Given the description of an element on the screen output the (x, y) to click on. 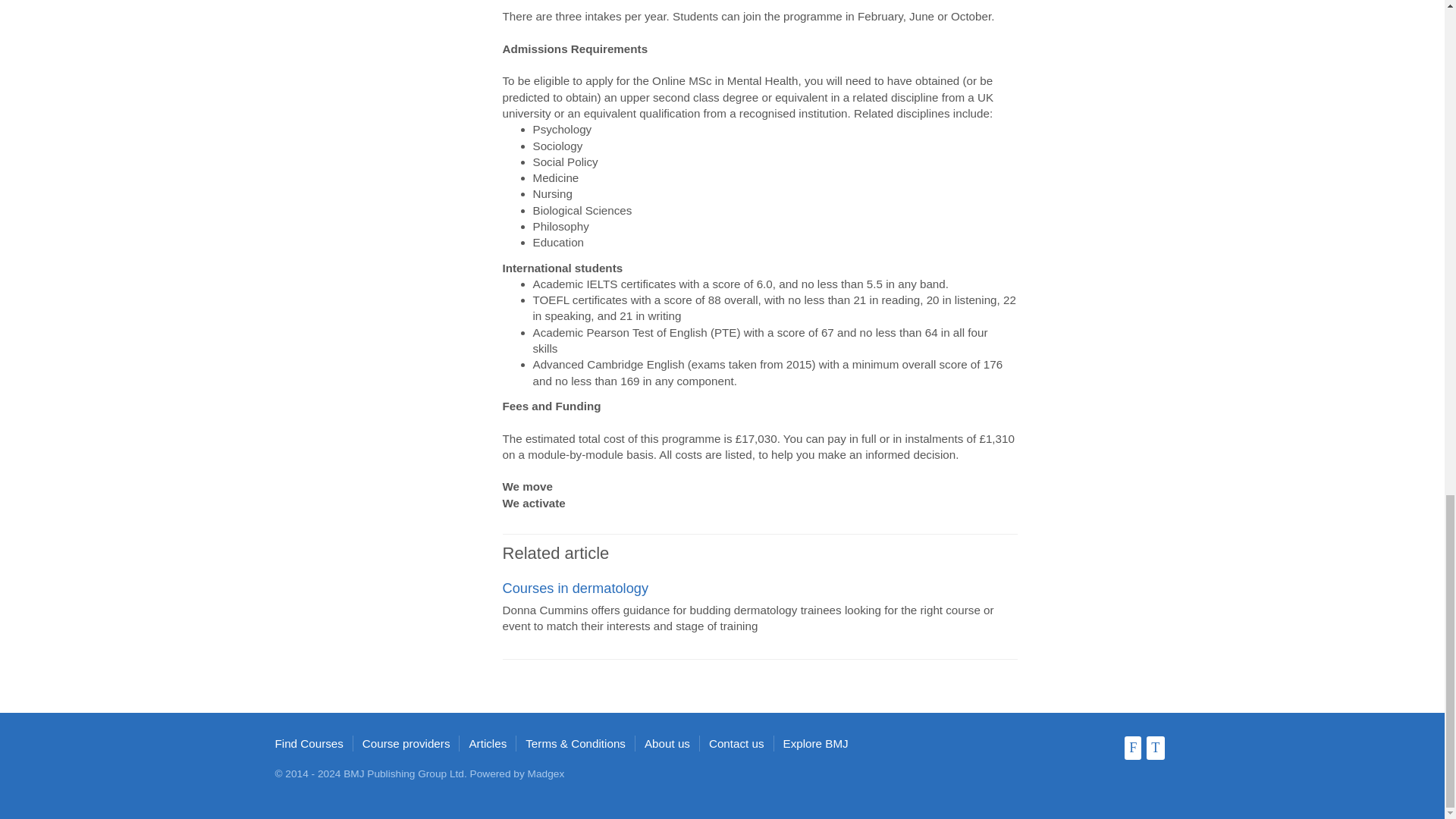
Contact us (736, 743)
Articles (487, 743)
Course providers (405, 743)
Explore BMJ (815, 743)
Courses in dermatology (574, 587)
About us (667, 743)
Find Courses (308, 743)
